Given the description of an element on the screen output the (x, y) to click on. 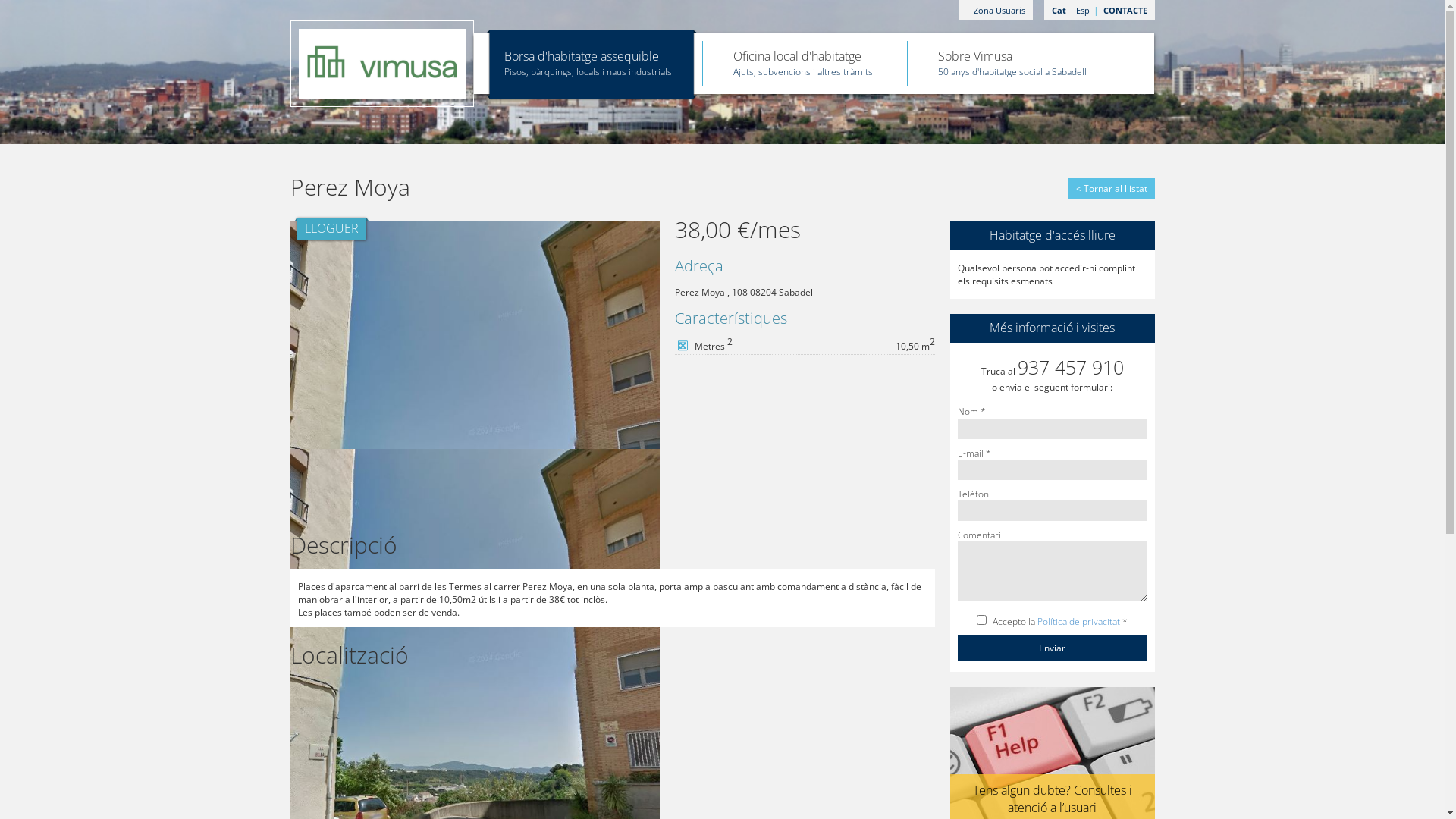
Zona Usuaris Element type: text (996, 9)
Enviar Element type: text (1051, 647)
< Tornar al llistat Element type: text (1110, 188)
Sobre Vimusa

50 anys d'habitatge social a Sabadell Element type: text (1011, 54)
CONTACTE Element type: text (1124, 9)
Cat Element type: text (1059, 9)
Esp Element type: text (1082, 9)
